Given the description of an element on the screen output the (x, y) to click on. 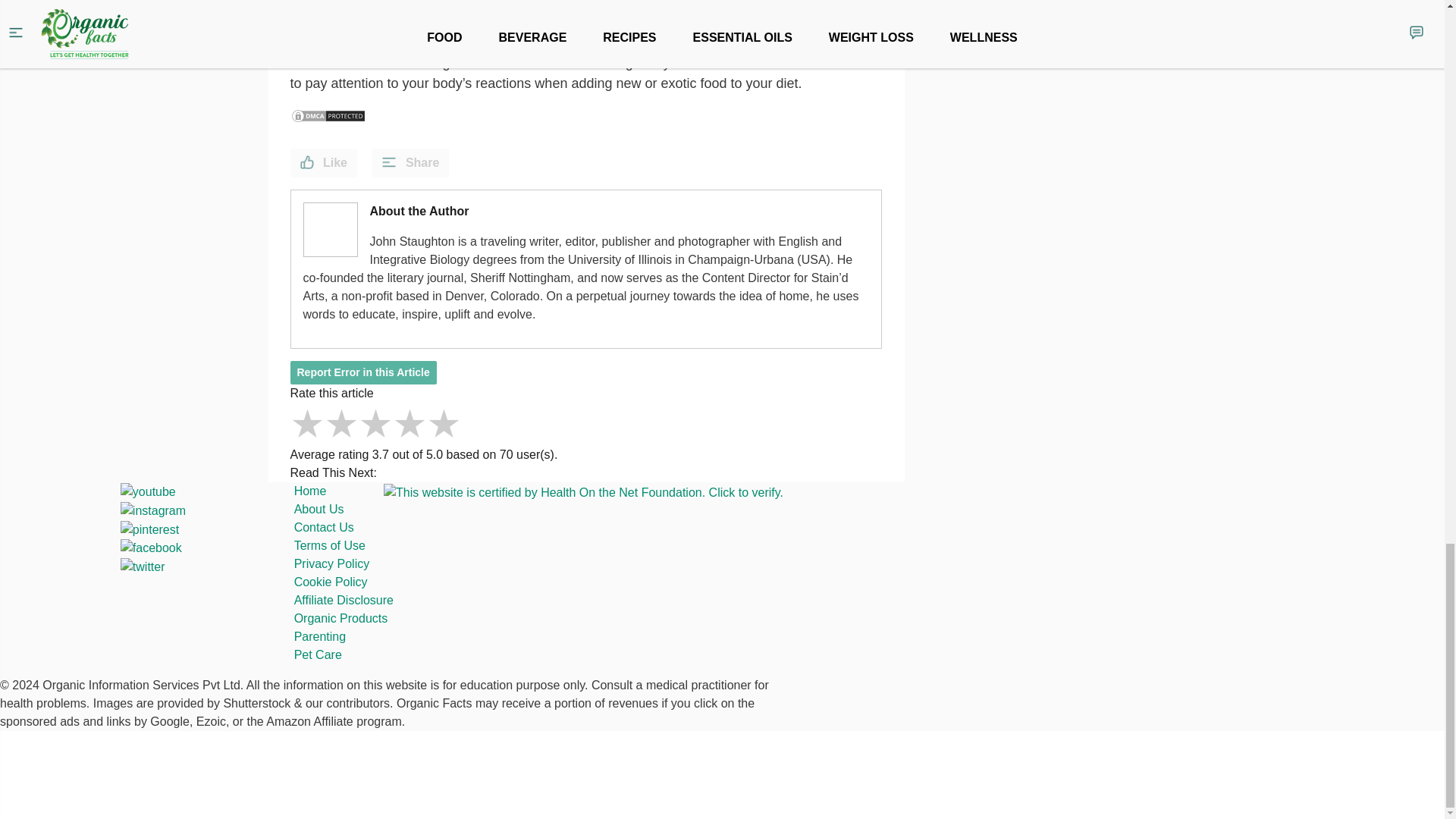
Terms of Use (329, 545)
Home (310, 490)
Pet Care (318, 654)
Contact Us (323, 526)
Cookie Policy (331, 581)
Organic Products (341, 617)
Privacy Policy (331, 563)
About Us (318, 508)
DMCA.com Protection Status (327, 115)
Parenting (320, 635)
Affiliate Disclosure (343, 599)
